Given the description of an element on the screen output the (x, y) to click on. 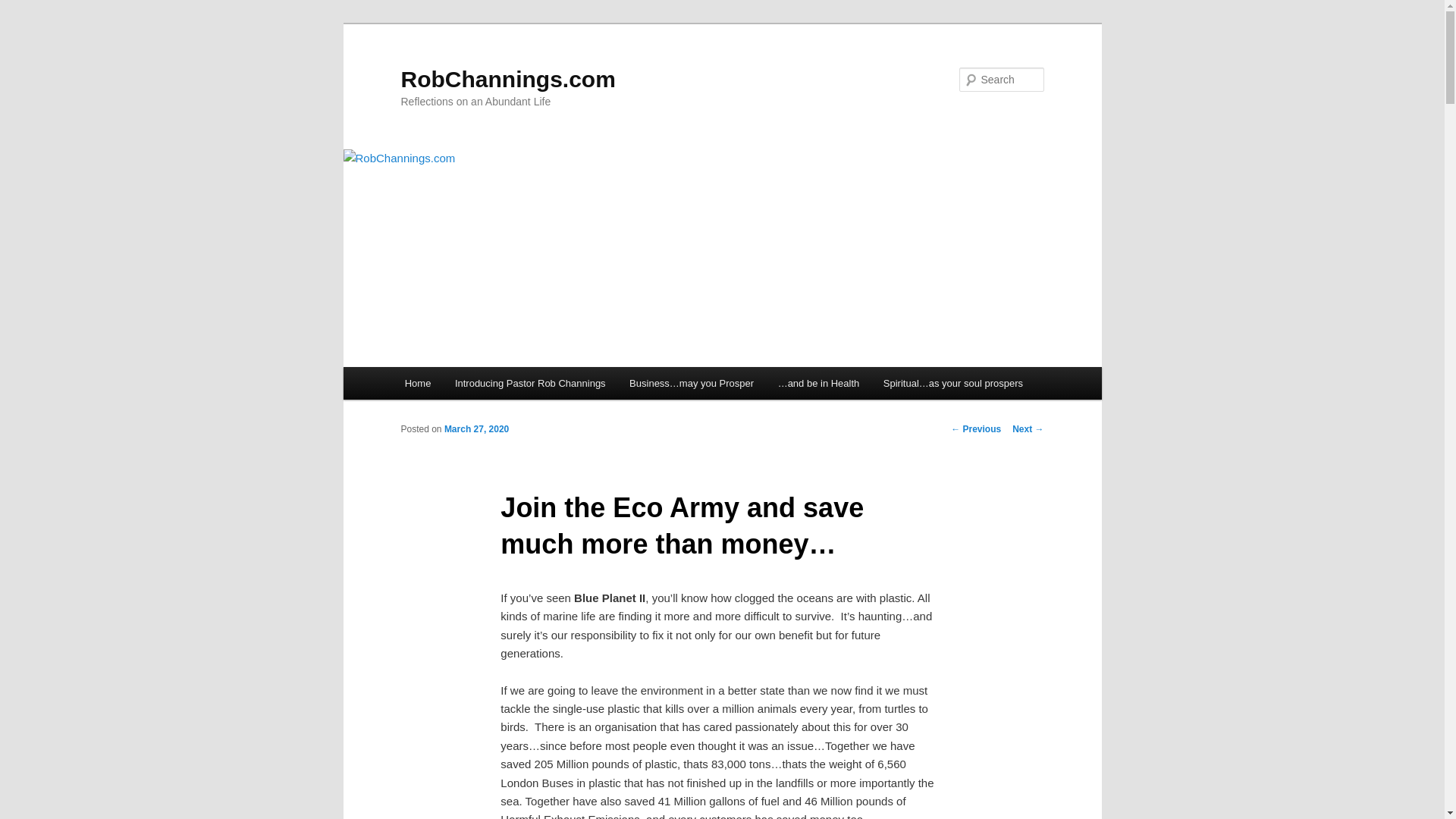
Home (417, 382)
March 27, 2020 (476, 429)
Introducing Pastor Rob Channings (529, 382)
Search (24, 8)
RobChannings.com (507, 78)
